Given the description of an element on the screen output the (x, y) to click on. 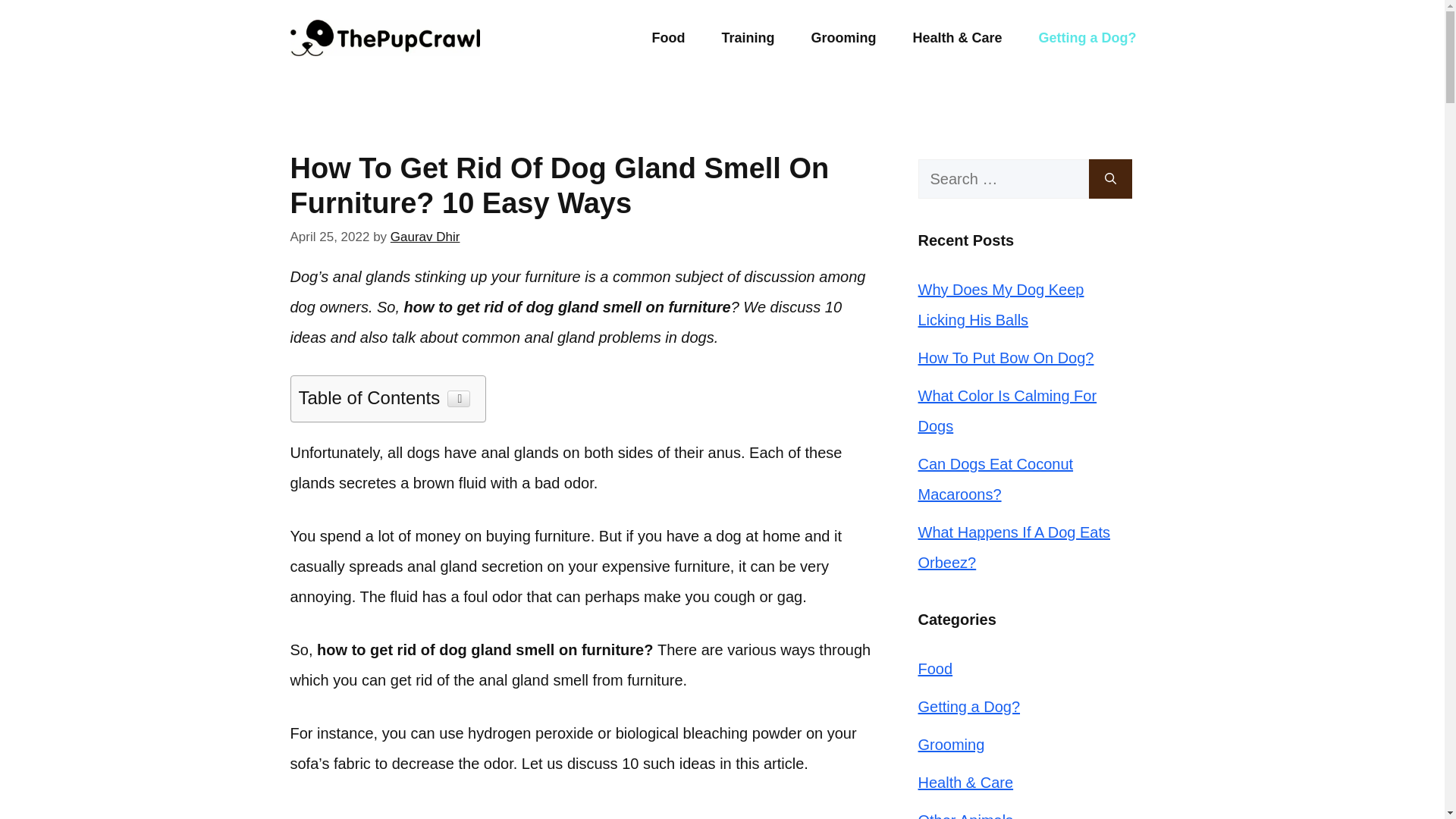
Food (668, 37)
Training (747, 37)
thepupcrawl.com (384, 37)
Grooming (842, 37)
thepupcrawl.com (384, 36)
Getting a Dog? (1087, 37)
View all posts by Gaurav Dhir (425, 237)
Gaurav Dhir (425, 237)
